Given the description of an element on the screen output the (x, y) to click on. 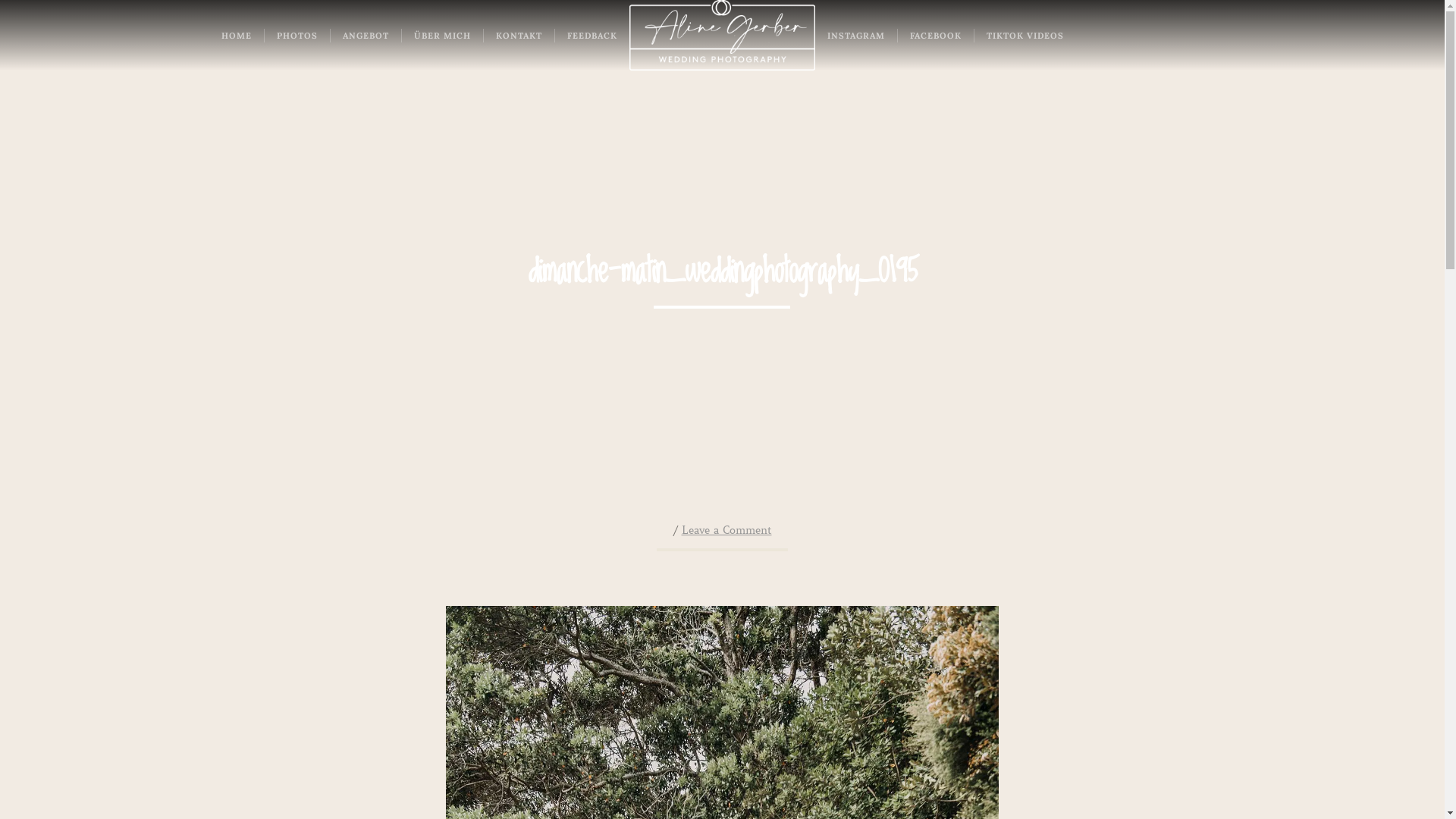
Leave a Comment Element type: text (725, 529)
TIKTOK VIDEOS Element type: text (1024, 35)
INSTAGRAM Element type: text (856, 35)
FEEDBACK Element type: text (591, 35)
FACEBOOK Element type: text (935, 35)
HOME Element type: text (236, 35)
KONTAKT Element type: text (518, 35)
ANGEBOT Element type: text (365, 35)
PHOTOS Element type: text (296, 35)
